Given the description of an element on the screen output the (x, y) to click on. 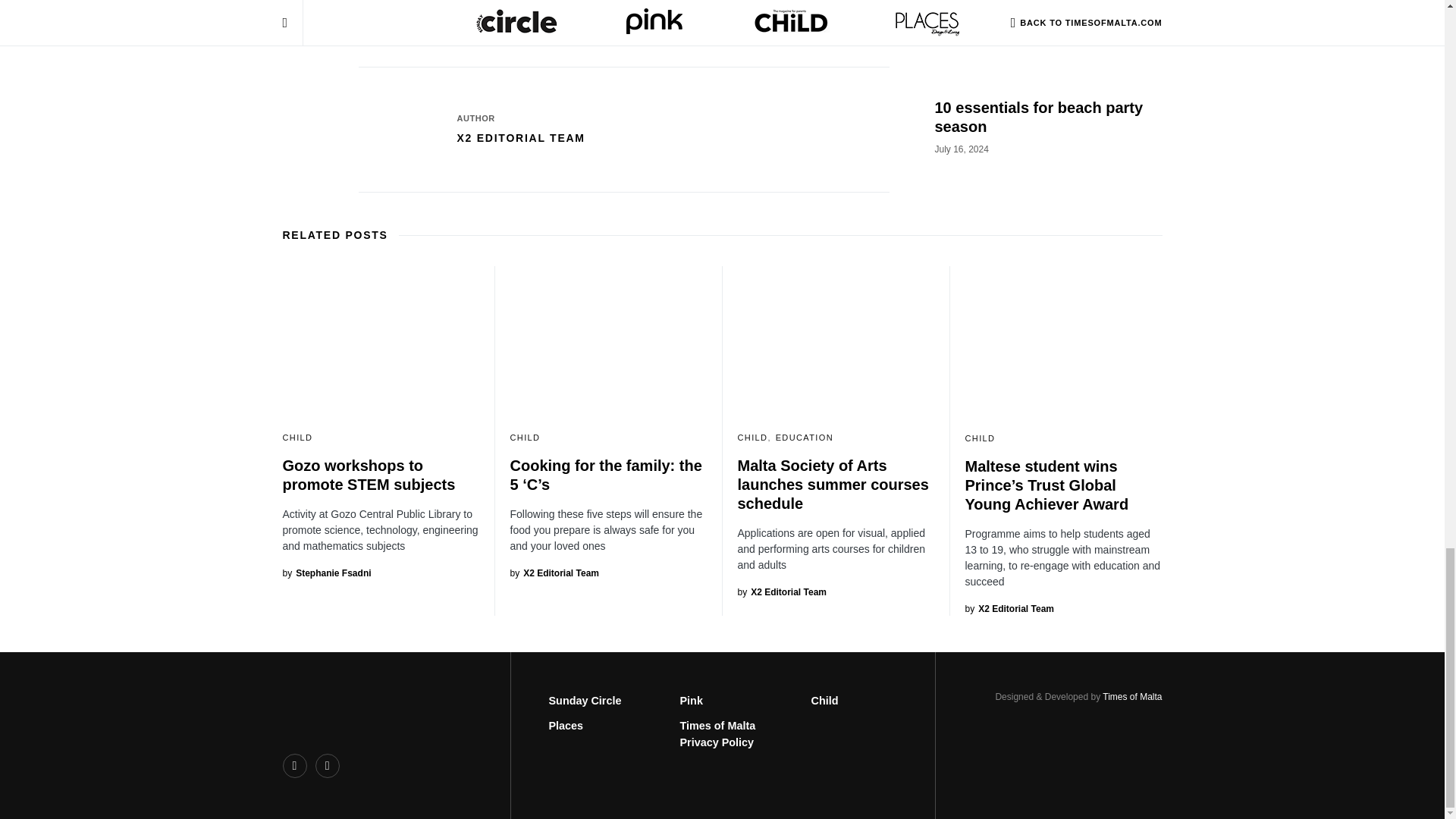
View all posts by X2 Editorial Team (553, 572)
View all posts by X2 Editorial Team (1008, 608)
View all posts by X2 Editorial Team (781, 591)
View all posts by Stephanie Fsadni (326, 572)
